Given the description of an element on the screen output the (x, y) to click on. 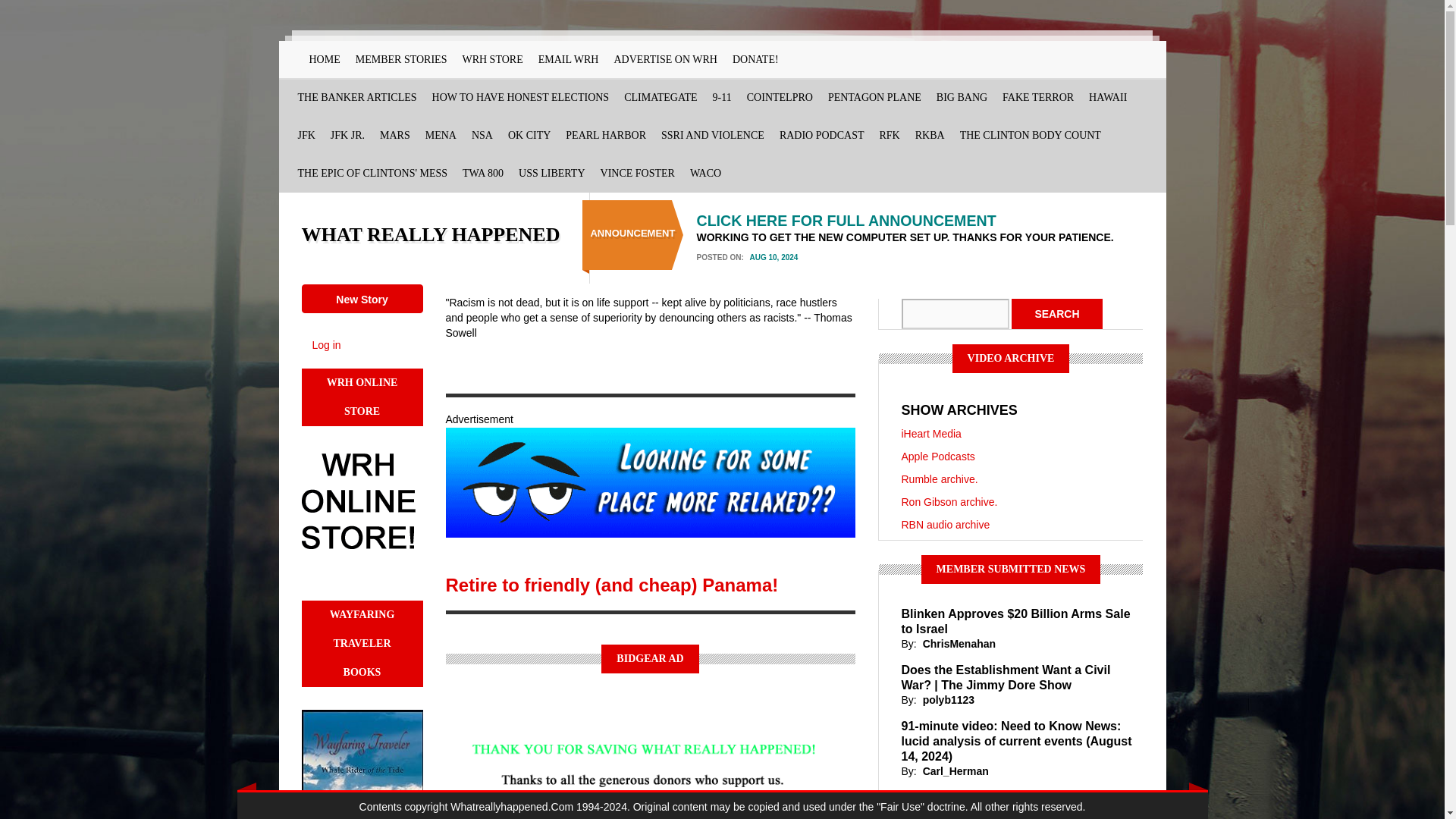
MENA (440, 135)
PENTAGON PLANE (874, 97)
RKBA (929, 135)
JFK JR. (347, 135)
THE CLINTON BODY COUNT (1030, 135)
THE EPIC OF CLINTONS' MESS (371, 173)
NSA (482, 135)
MEMBER STORIES (400, 59)
Home (430, 234)
MARS (394, 135)
